Given the description of an element on the screen output the (x, y) to click on. 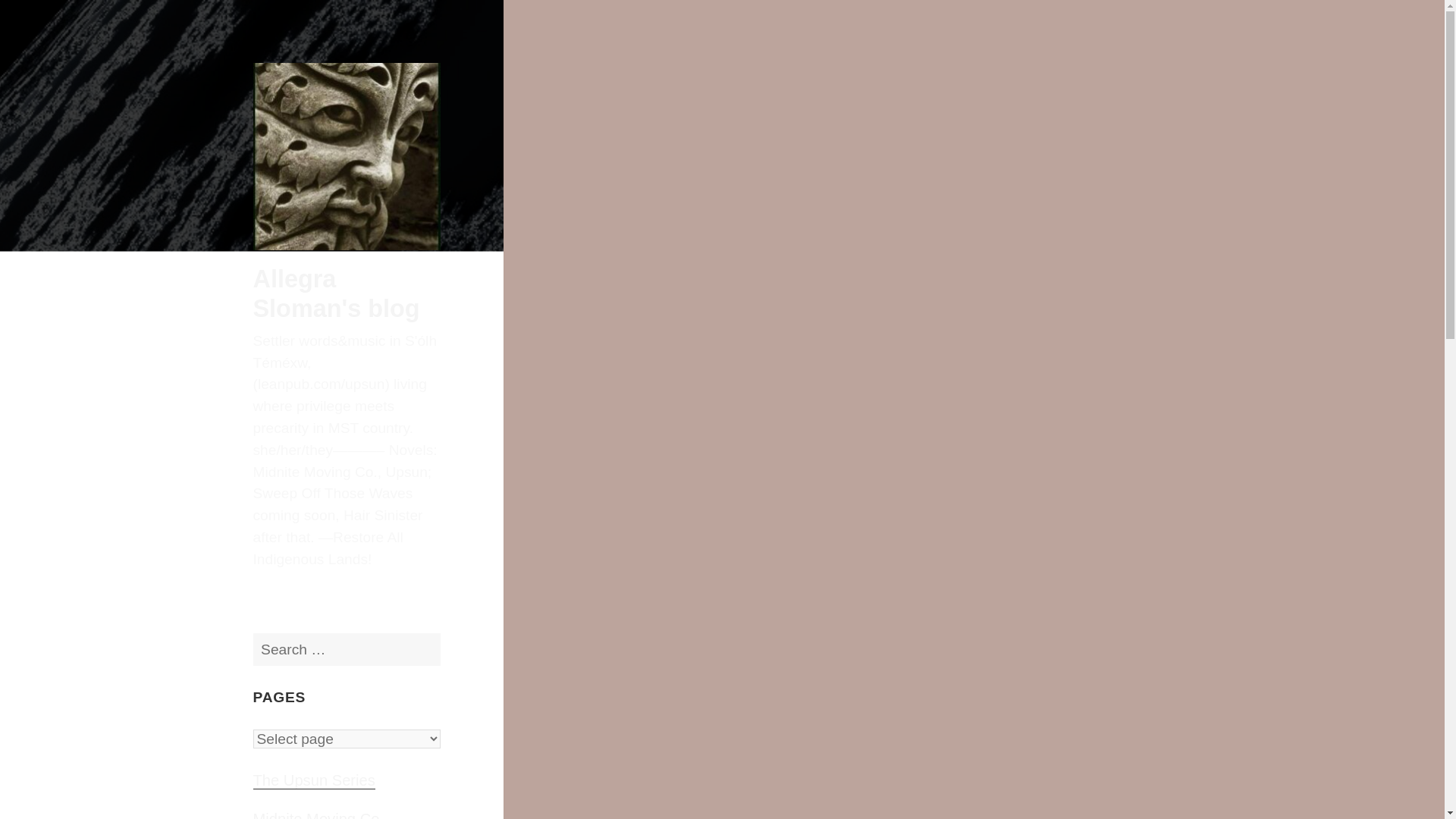
Midnite Moving Co (316, 815)
The Upsun Series (314, 781)
Allegra Sloman's blog (336, 293)
